Given the description of an element on the screen output the (x, y) to click on. 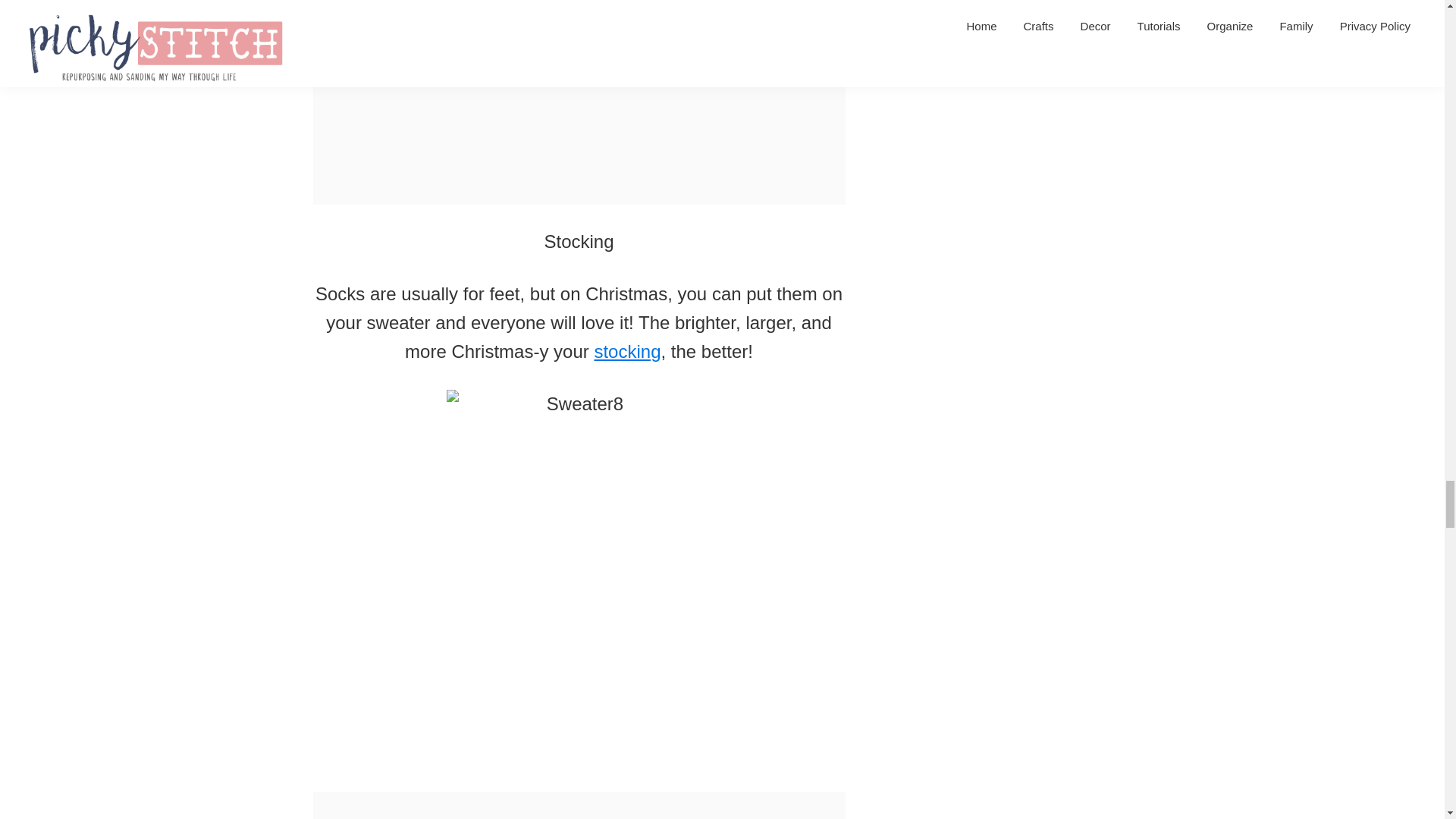
stocking (627, 351)
